Given the description of an element on the screen output the (x, y) to click on. 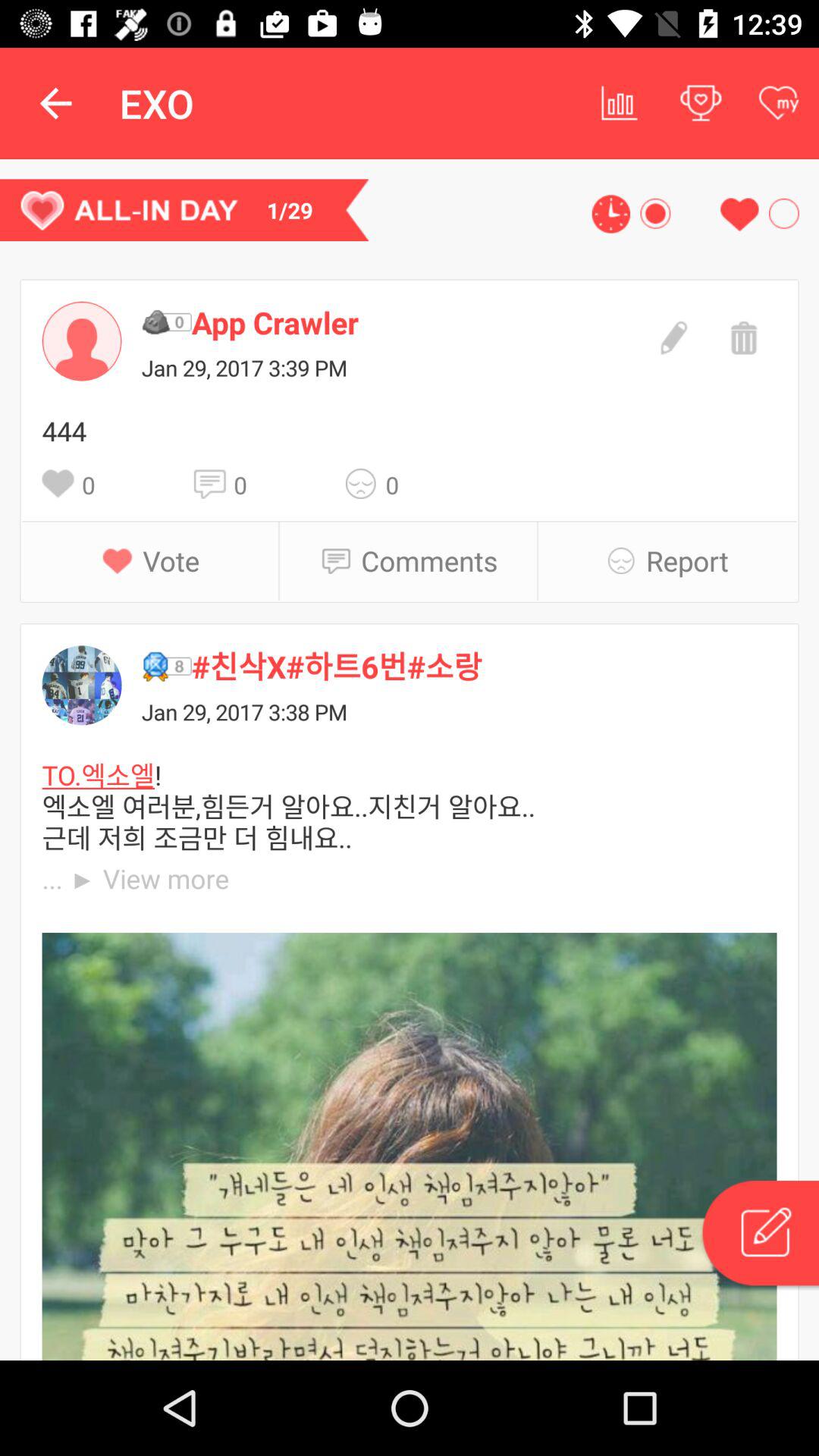
tap to edit or delete (759, 1235)
